Given the description of an element on the screen output the (x, y) to click on. 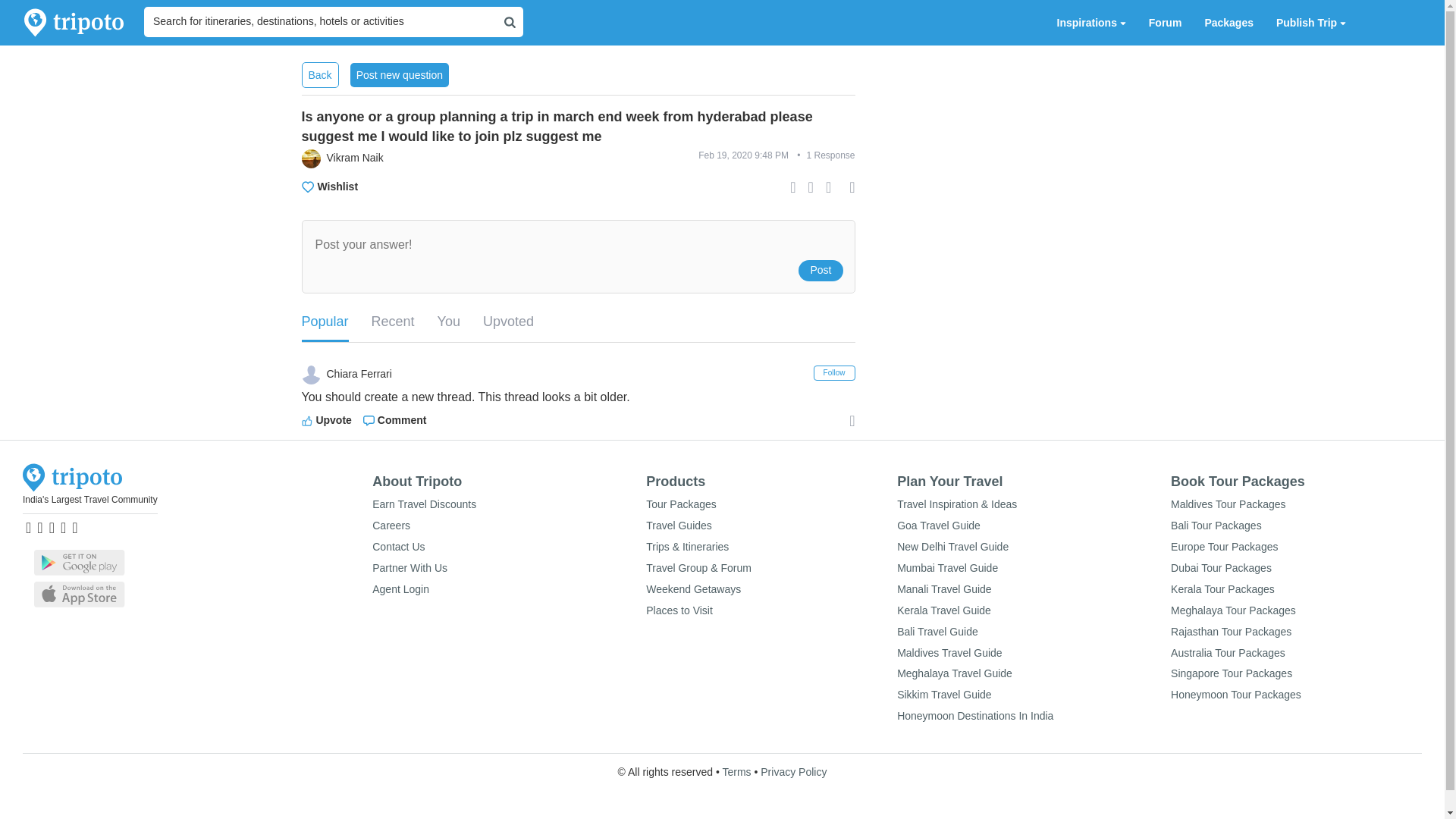
Post new question (399, 74)
Back (320, 74)
Follow (834, 372)
Packages (1228, 22)
Upvoted (508, 321)
Inspirations (1091, 22)
Popular (325, 323)
Forum (1165, 22)
Forum (1165, 22)
